Given the description of an element on the screen output the (x, y) to click on. 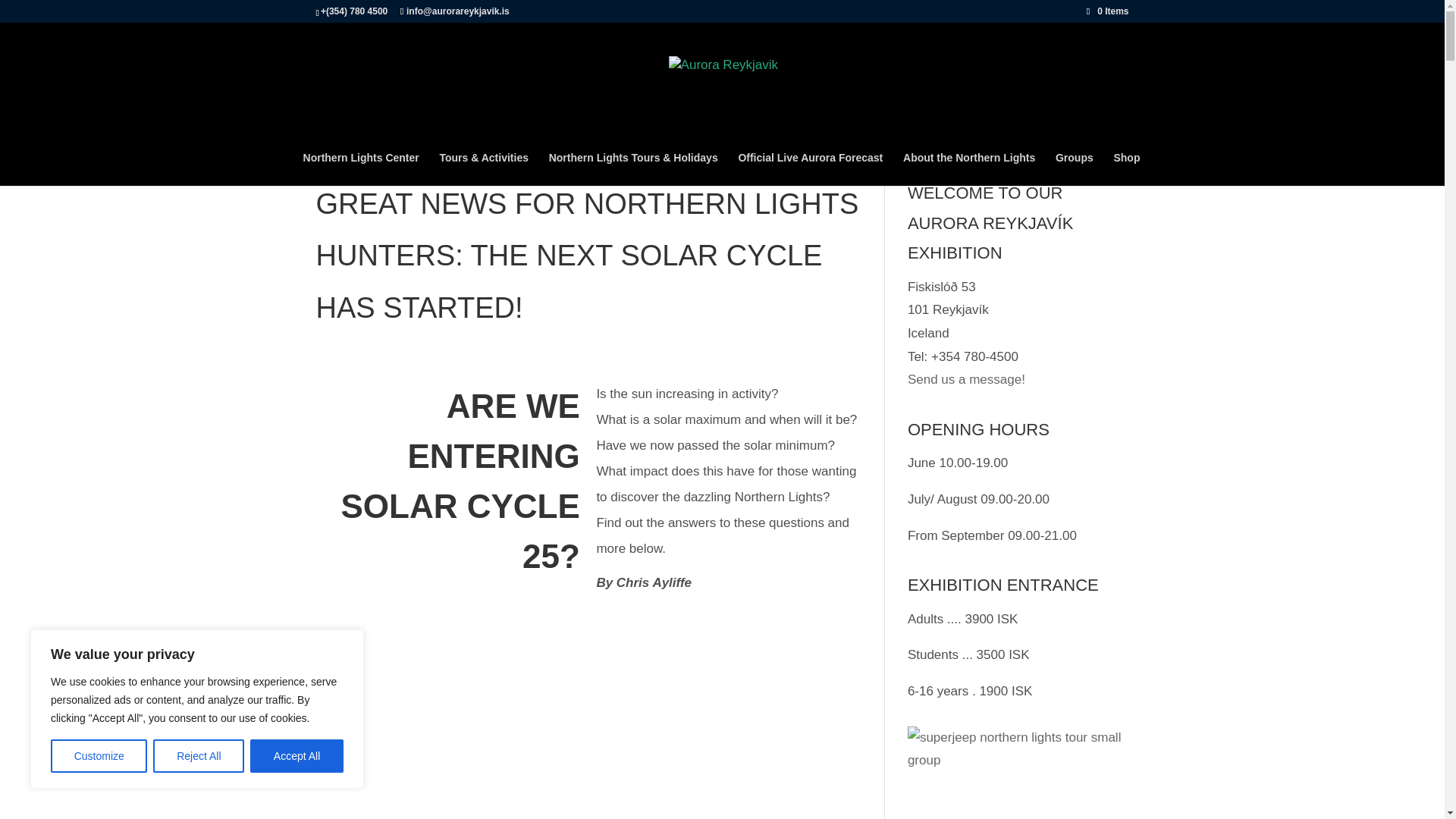
Accept All (296, 756)
About the Northern Lights (968, 168)
Reject All (198, 756)
Northern Lights Center (360, 168)
Groups (1074, 168)
0 Items (1107, 10)
Customize (98, 756)
Official Live Aurora Forecast (810, 168)
